Given the description of an element on the screen output the (x, y) to click on. 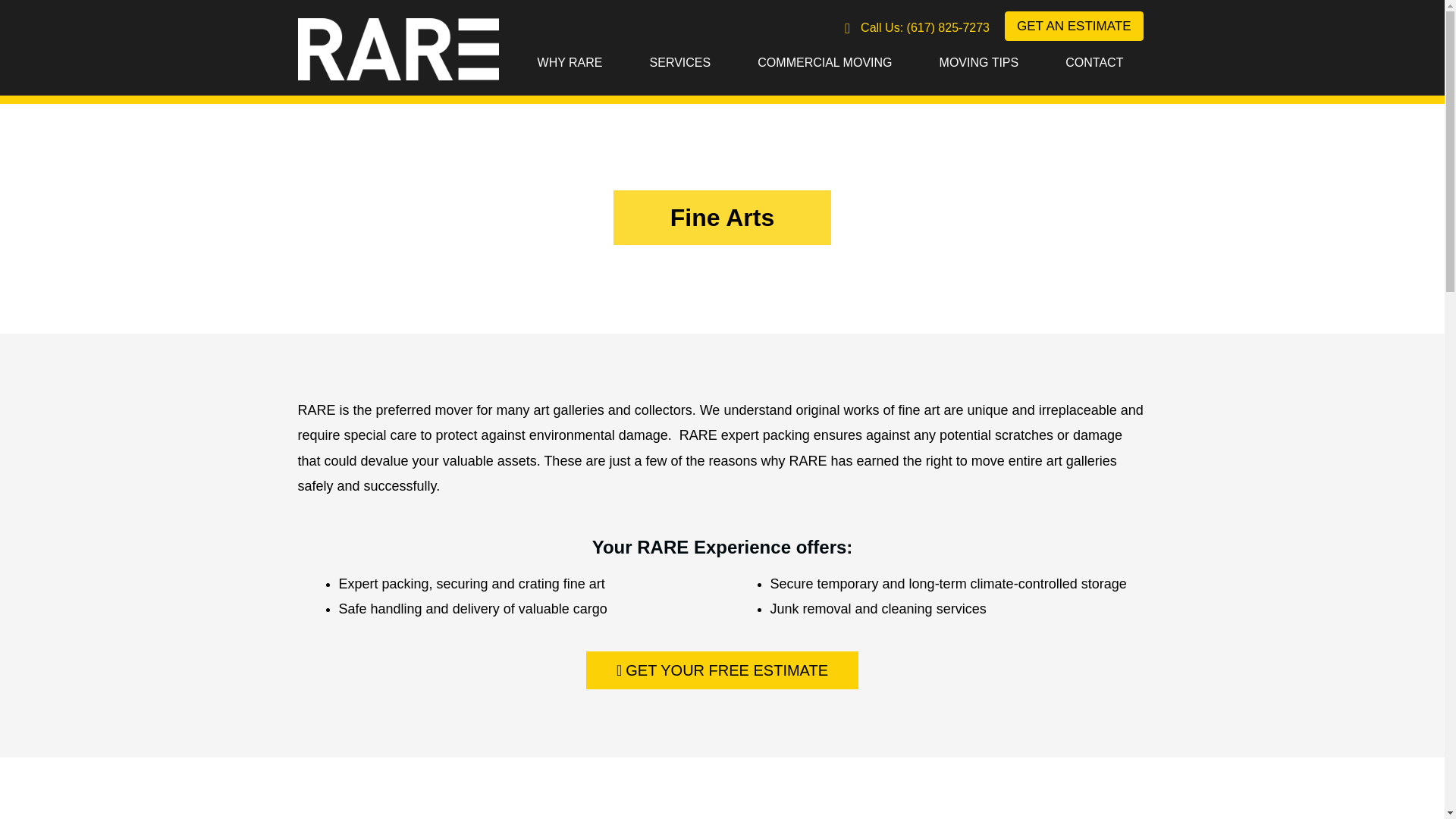
COMMERCIAL MOVING (824, 62)
SERVICES (680, 62)
CONTACT (1094, 62)
GET AN ESTIMATE (1073, 25)
WHY RARE (569, 62)
MOVING TIPS (978, 62)
